Given the description of an element on the screen output the (x, y) to click on. 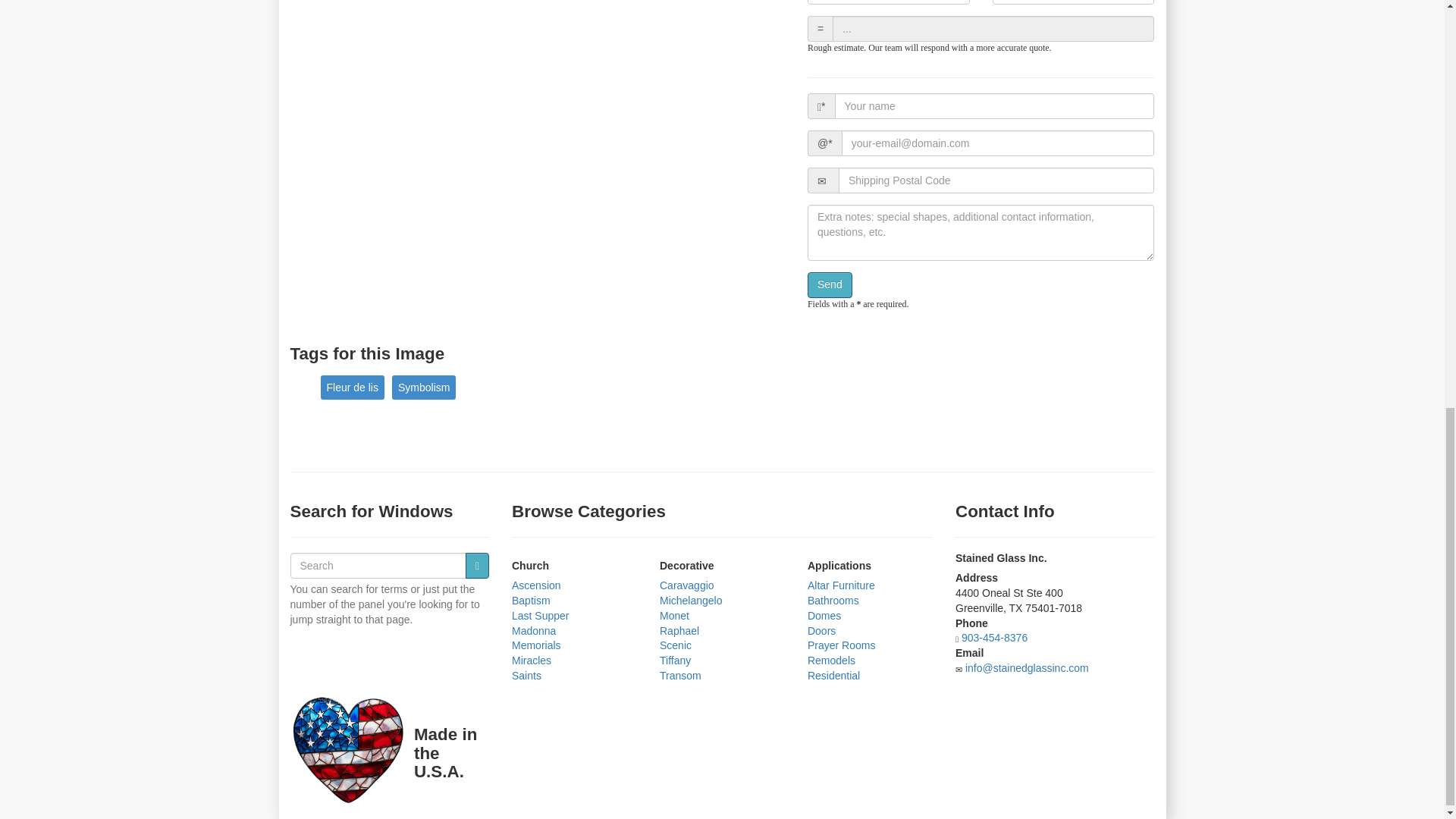
0.00 (1073, 2)
Prayer Rooms (841, 645)
Monet (673, 615)
Transom (680, 675)
Baptism (531, 600)
Altar Furniture (841, 585)
Scenic (675, 645)
Caravaggio (686, 585)
Bathrooms (833, 600)
Doors (821, 630)
Michelangelo (690, 600)
Miracles (531, 660)
Memorials (536, 645)
Fleur de lis (352, 387)
Saints (526, 675)
